Given the description of an element on the screen output the (x, y) to click on. 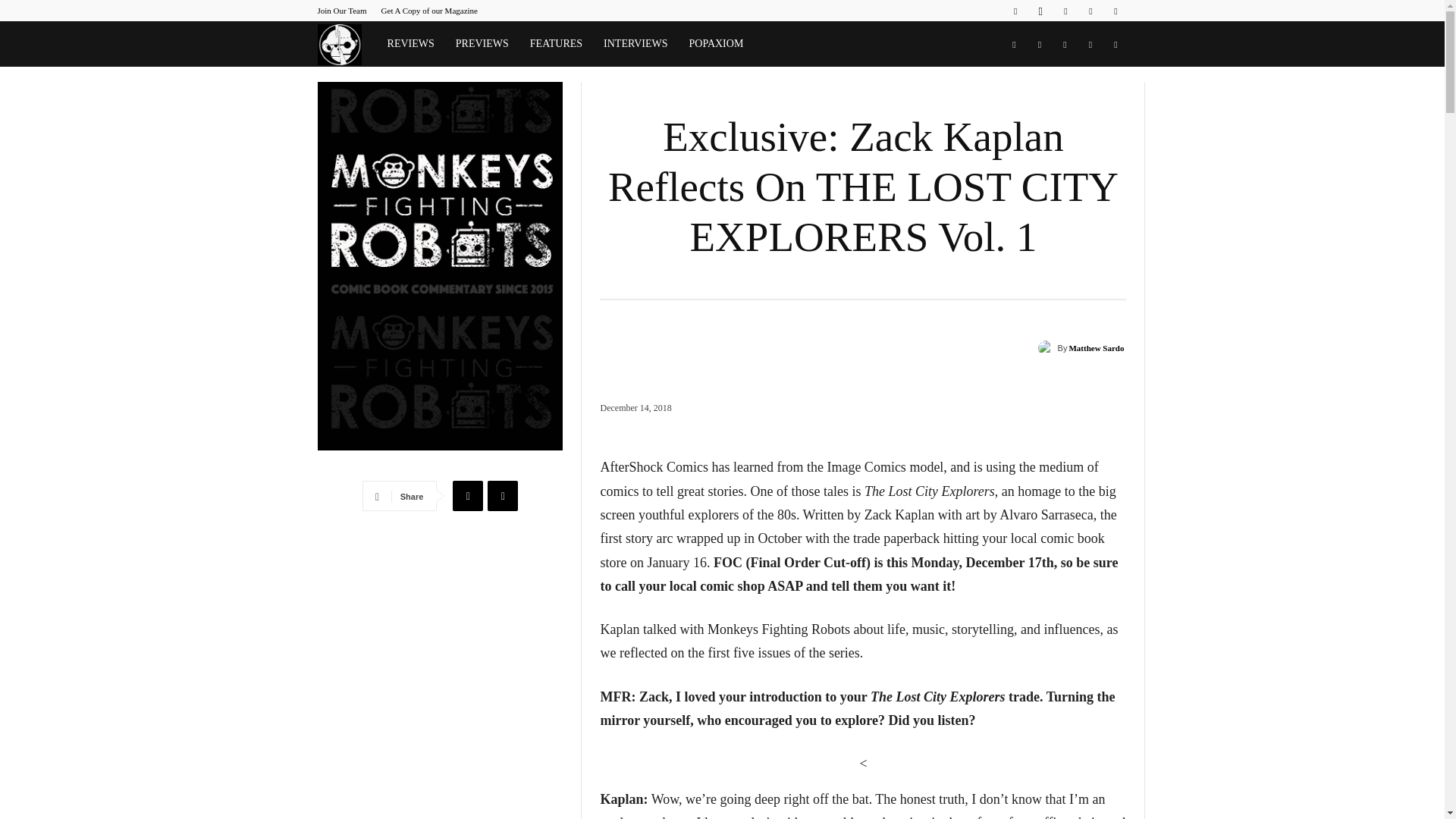
INTERVIEWS (635, 43)
REVIEWS (411, 43)
FEATURES (555, 43)
Youtube (1114, 10)
Get A Copy of our Magazine (429, 10)
Instagram (1040, 10)
Twitter (1090, 10)
Matthew Sardo (1096, 347)
Join Our Team (341, 10)
Facebook (1015, 10)
Monkeys Fighting Robots (346, 44)
POPAXIOM (716, 43)
Reddit (1065, 10)
PREVIEWS (482, 43)
